Given the description of an element on the screen output the (x, y) to click on. 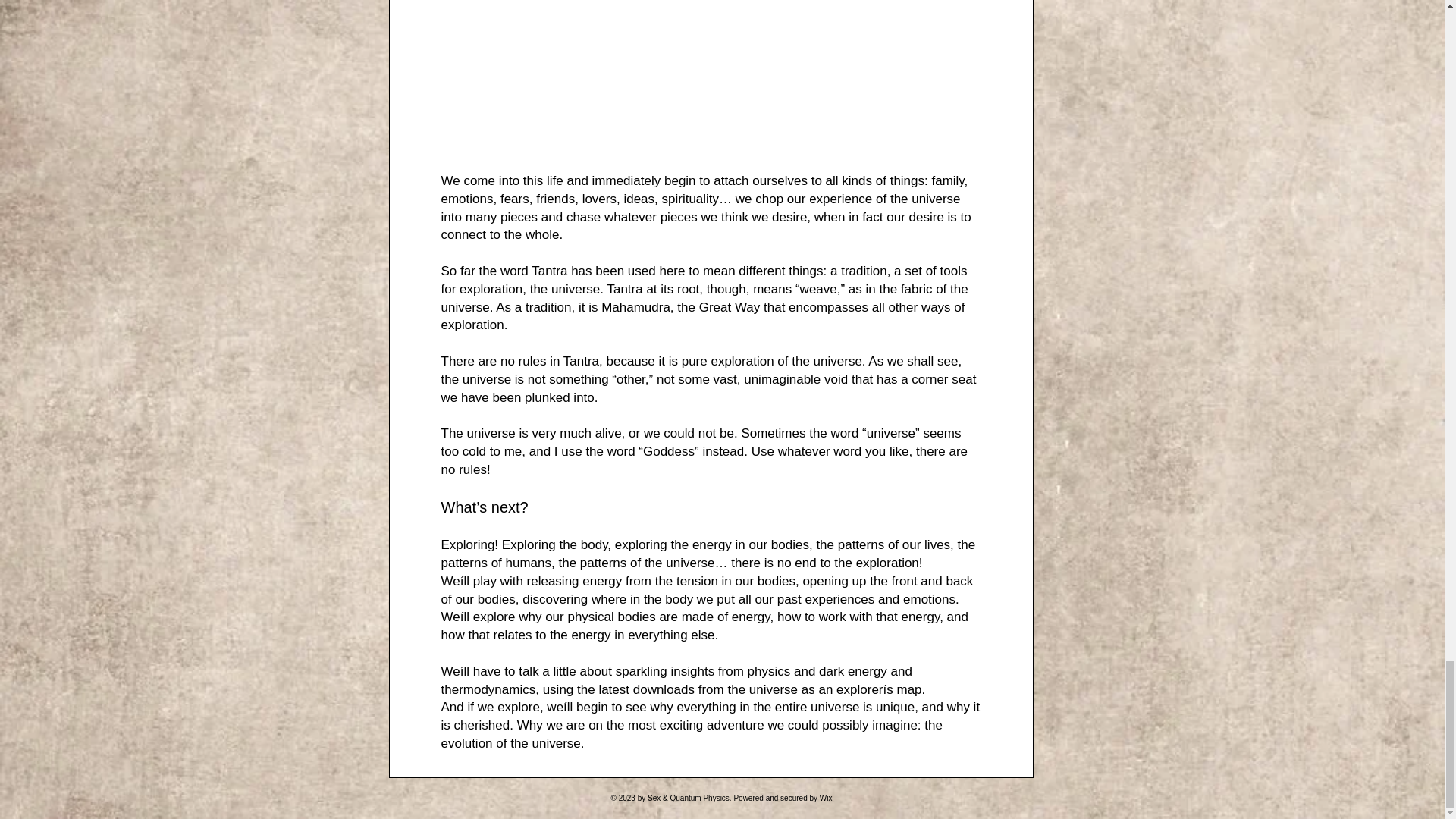
Wix (825, 797)
